Given the description of an element on the screen output the (x, y) to click on. 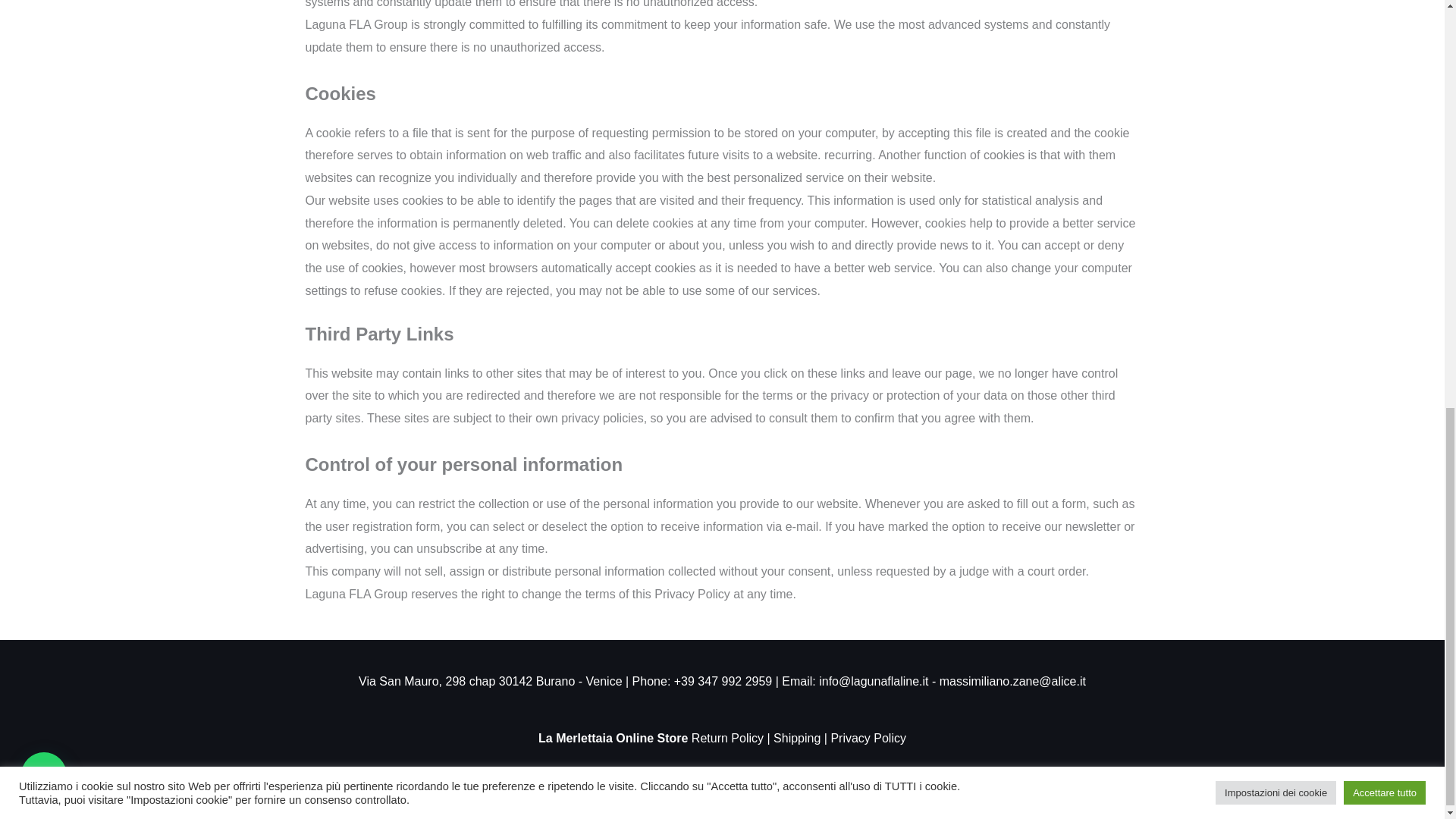
Via San Mauro, 298 chap 30142 Burano - Venice (490, 680)
Privacy Policy (867, 738)
Shipping (795, 738)
Privacy Policy (646, 780)
Cookie Policy (730, 780)
Return Policy (726, 738)
POC Wind Region (548, 780)
